Given the description of an element on the screen output the (x, y) to click on. 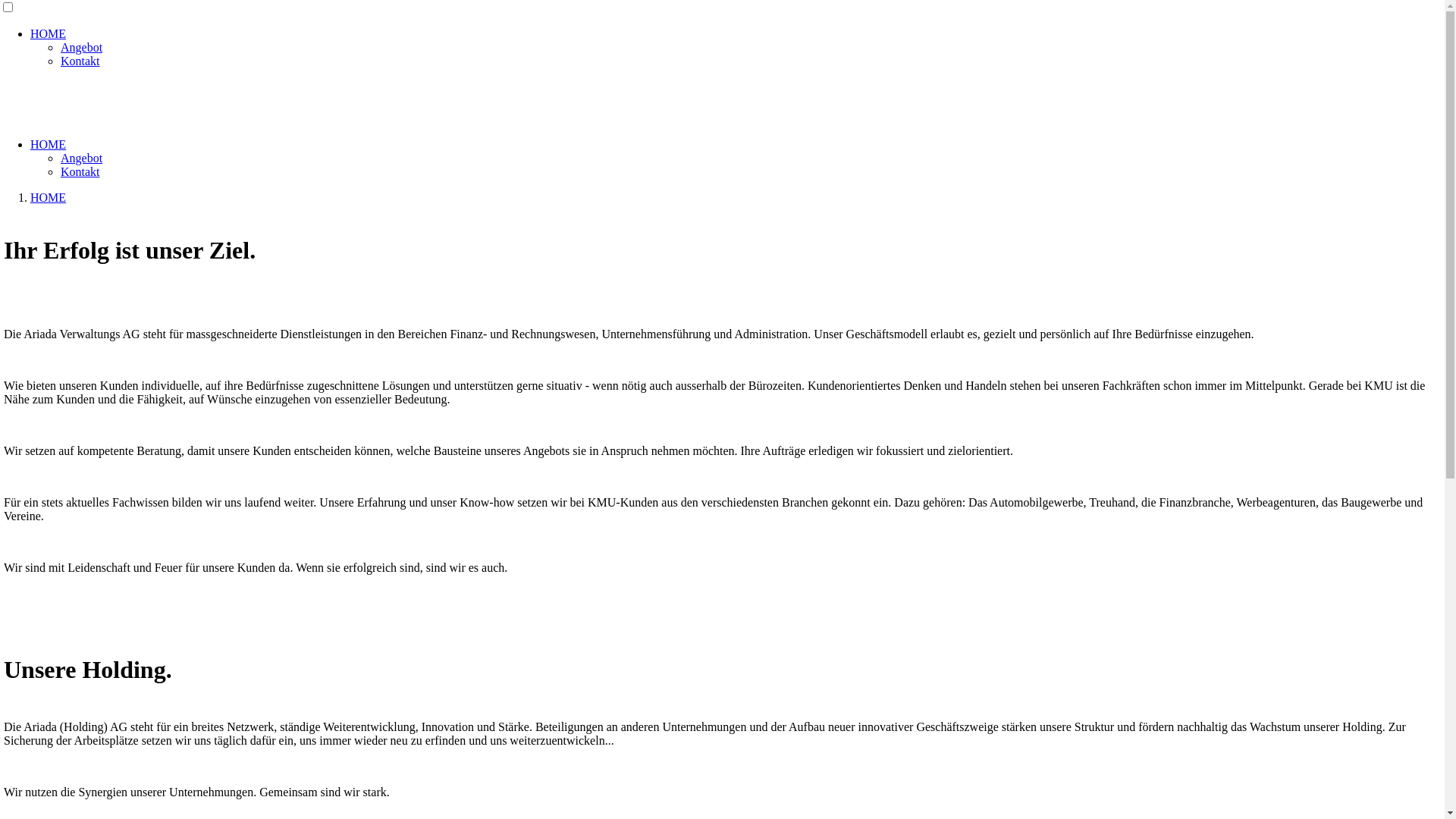
HOME Element type: text (47, 33)
Angebot Element type: text (81, 46)
Angebot Element type: text (81, 157)
HOME Element type: text (47, 197)
Kontakt Element type: text (80, 60)
Kontakt Element type: text (80, 171)
HOME Element type: text (47, 144)
